Given the description of an element on the screen output the (x, y) to click on. 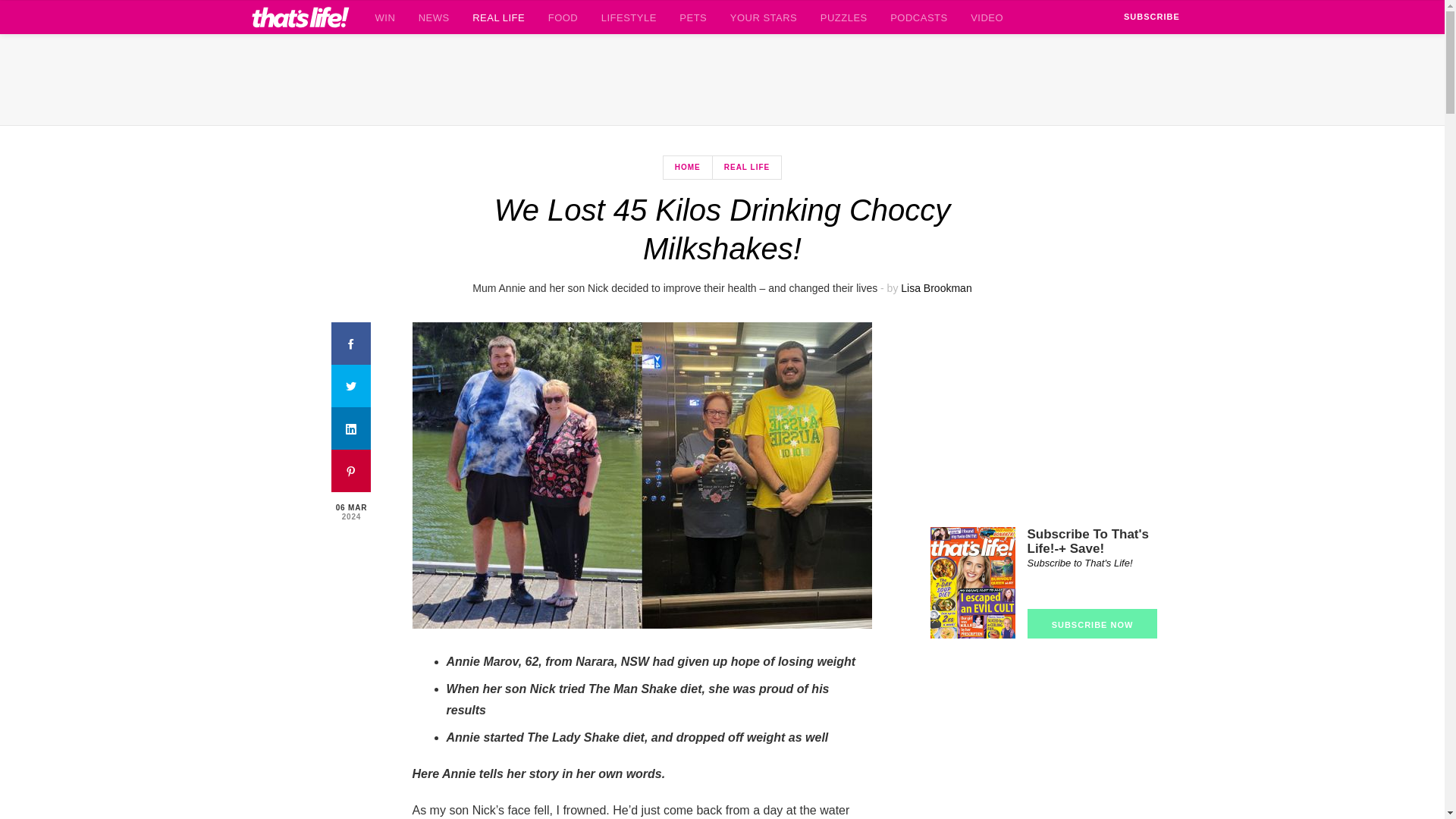
3rd party ad content (1043, 736)
WIN (384, 17)
PETS (692, 17)
Facebook (351, 343)
LIFESTYLE (628, 17)
Twitter (351, 385)
REAL LIFE (746, 167)
SUBSCRIBE (1151, 16)
PUZZLES (843, 17)
NEWS (433, 17)
3rd party ad content (721, 79)
3rd party ad content (1043, 416)
YOUR STARS (763, 17)
PODCASTS (918, 17)
